Given the description of an element on the screen output the (x, y) to click on. 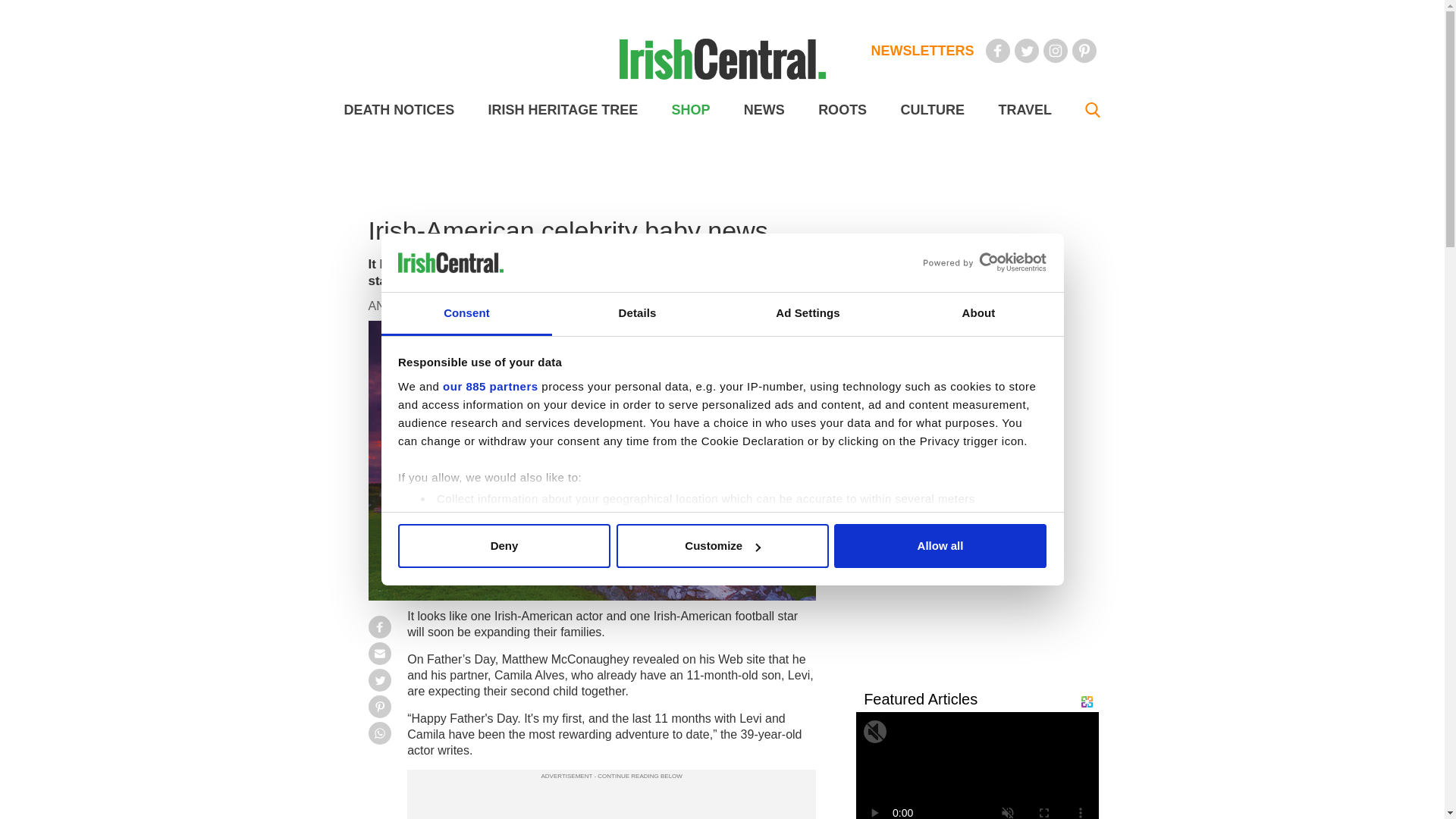
Ad Settings (807, 313)
details section (927, 536)
our 885 partners (490, 386)
Details (636, 313)
About (978, 313)
Consent (465, 313)
